Given the description of an element on the screen output the (x, y) to click on. 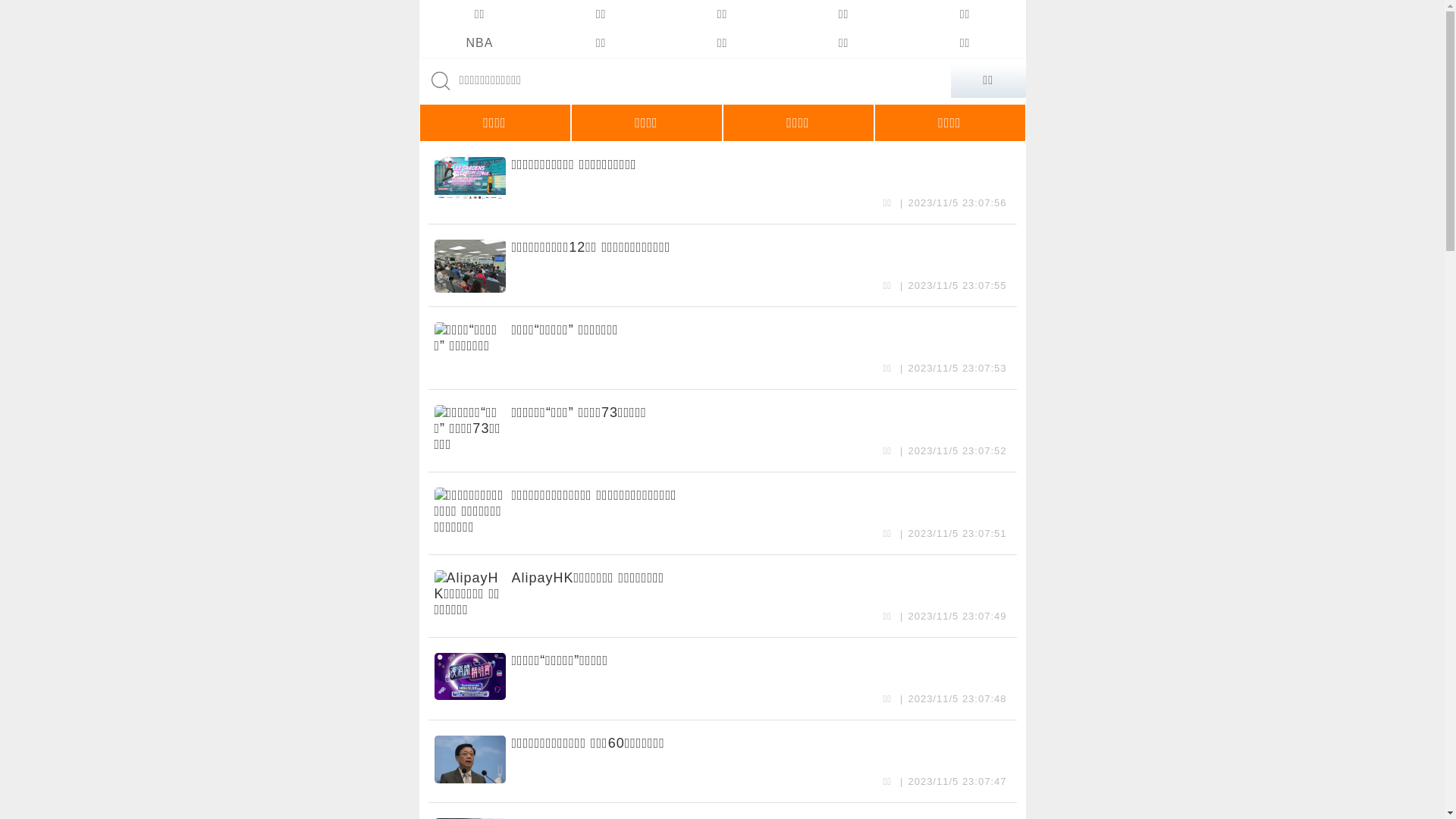
NBA Element type: text (478, 42)
